Given the description of an element on the screen output the (x, y) to click on. 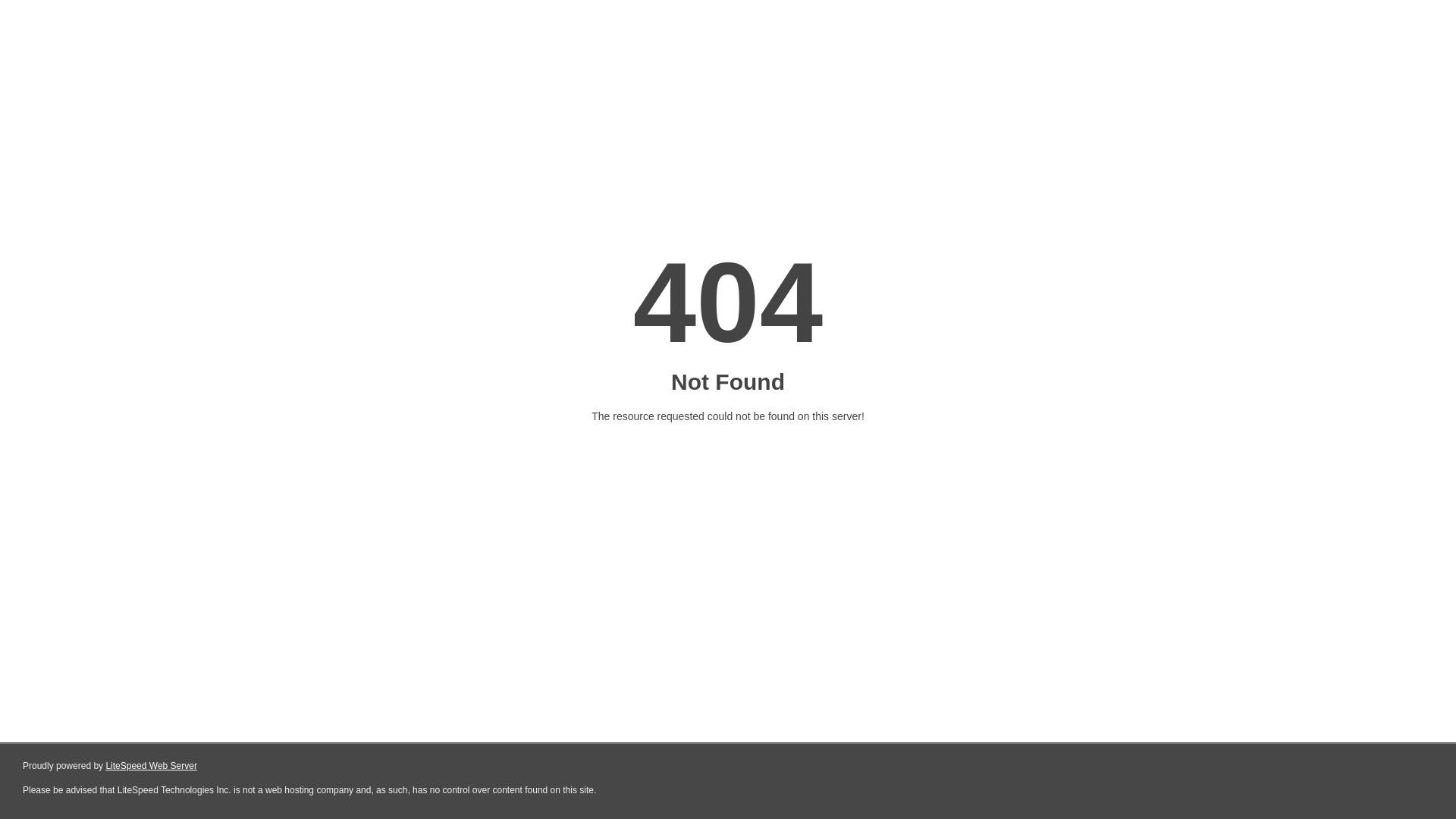
LiteSpeed Web Server (150, 765)
